Given the description of an element on the screen output the (x, y) to click on. 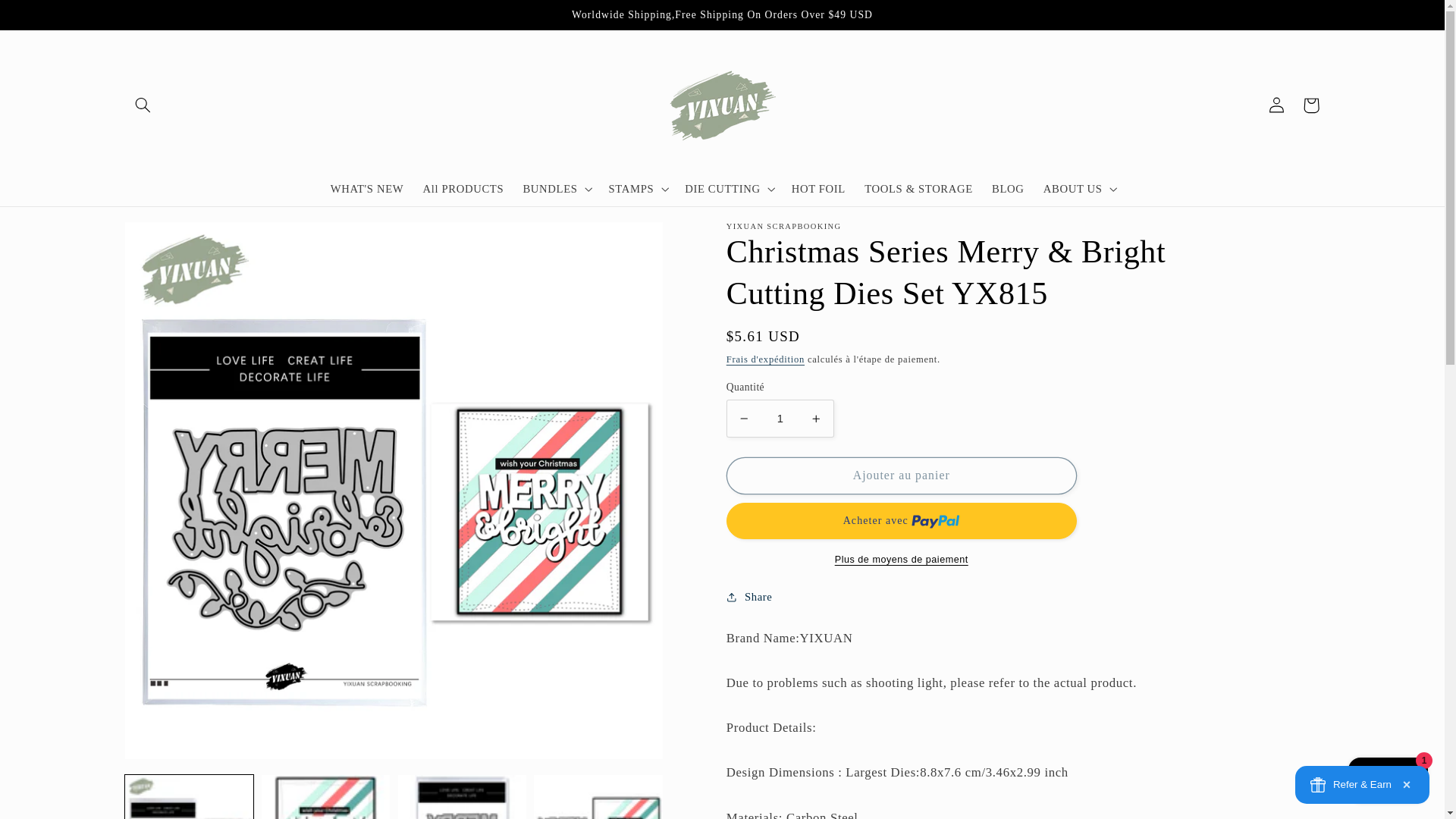
Chat de la boutique en ligne Shopify (1387, 781)
WHAT'S NEW (366, 189)
Ignorer et passer au contenu (48, 18)
1 (780, 417)
